Given the description of an element on the screen output the (x, y) to click on. 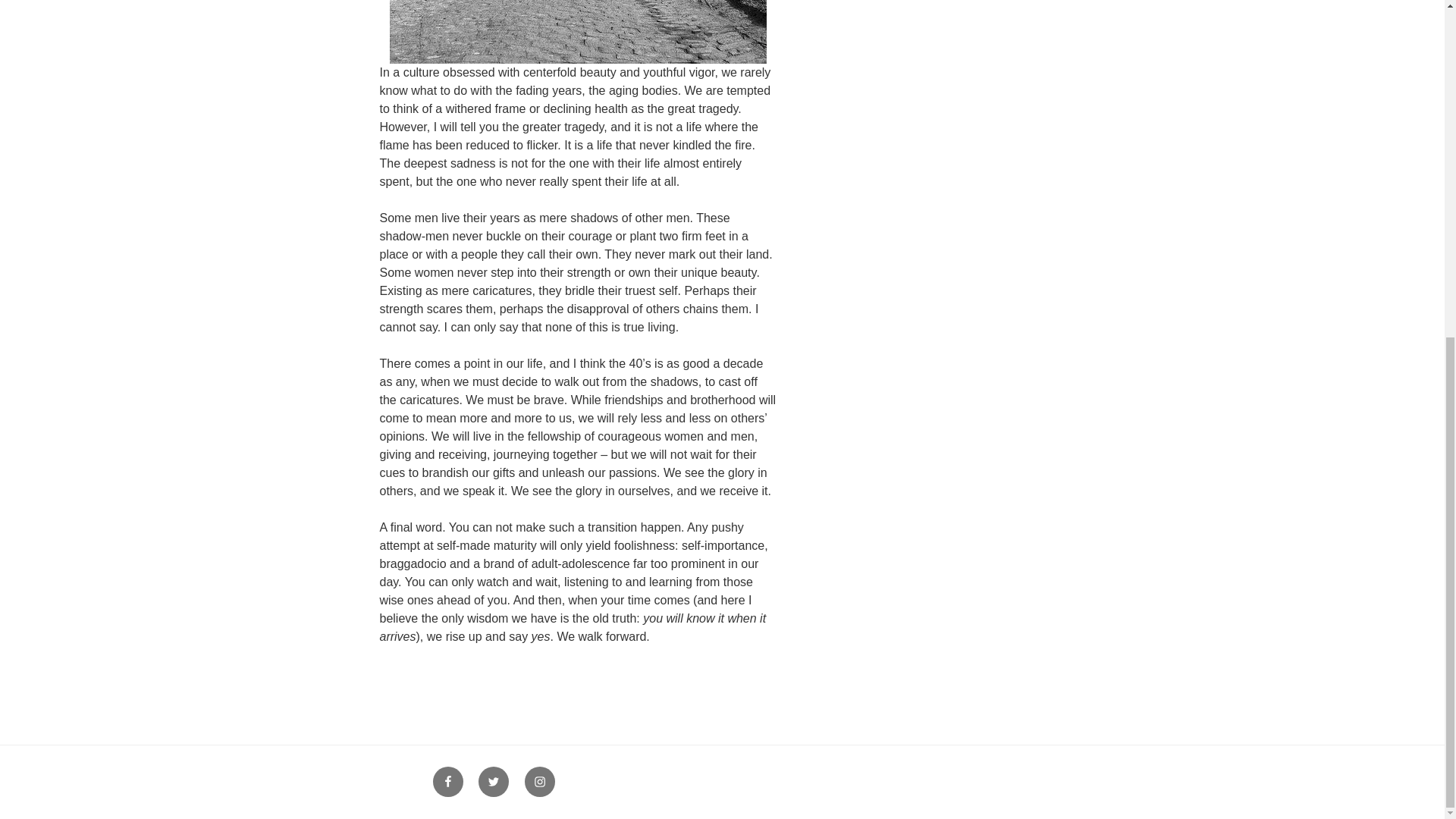
Facebook (447, 781)
Instagram (539, 781)
Twitter (493, 781)
